Given the description of an element on the screen output the (x, y) to click on. 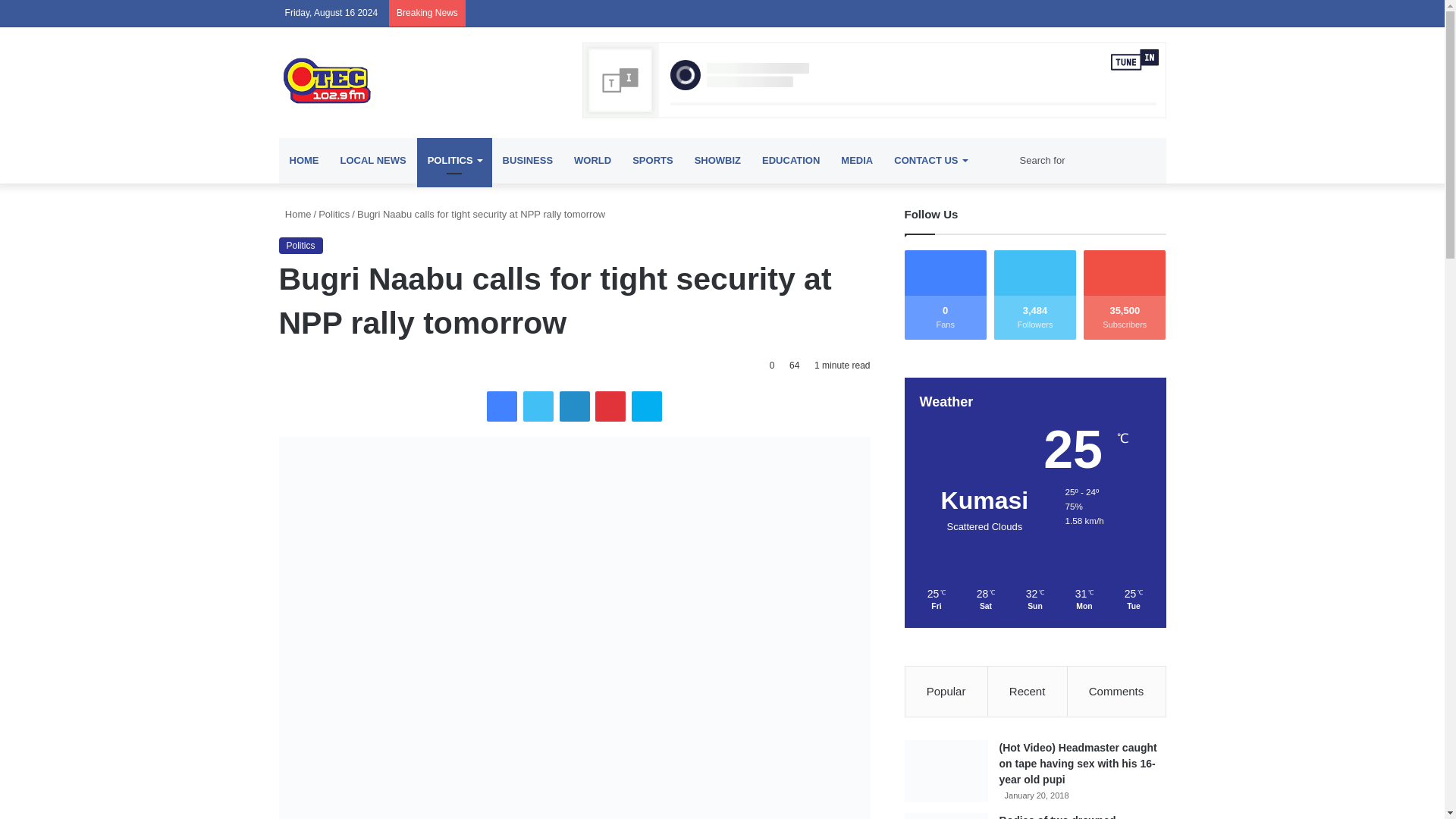
LOCAL NEWS (372, 160)
SPORTS (651, 160)
Otec 102.9 FM (419, 80)
POLITICS (454, 160)
Facebook (501, 406)
LinkedIn (574, 406)
BUSINESS (527, 160)
EDUCATION (790, 160)
SHOWBIZ (717, 160)
Politics (301, 245)
